Given the description of an element on the screen output the (x, y) to click on. 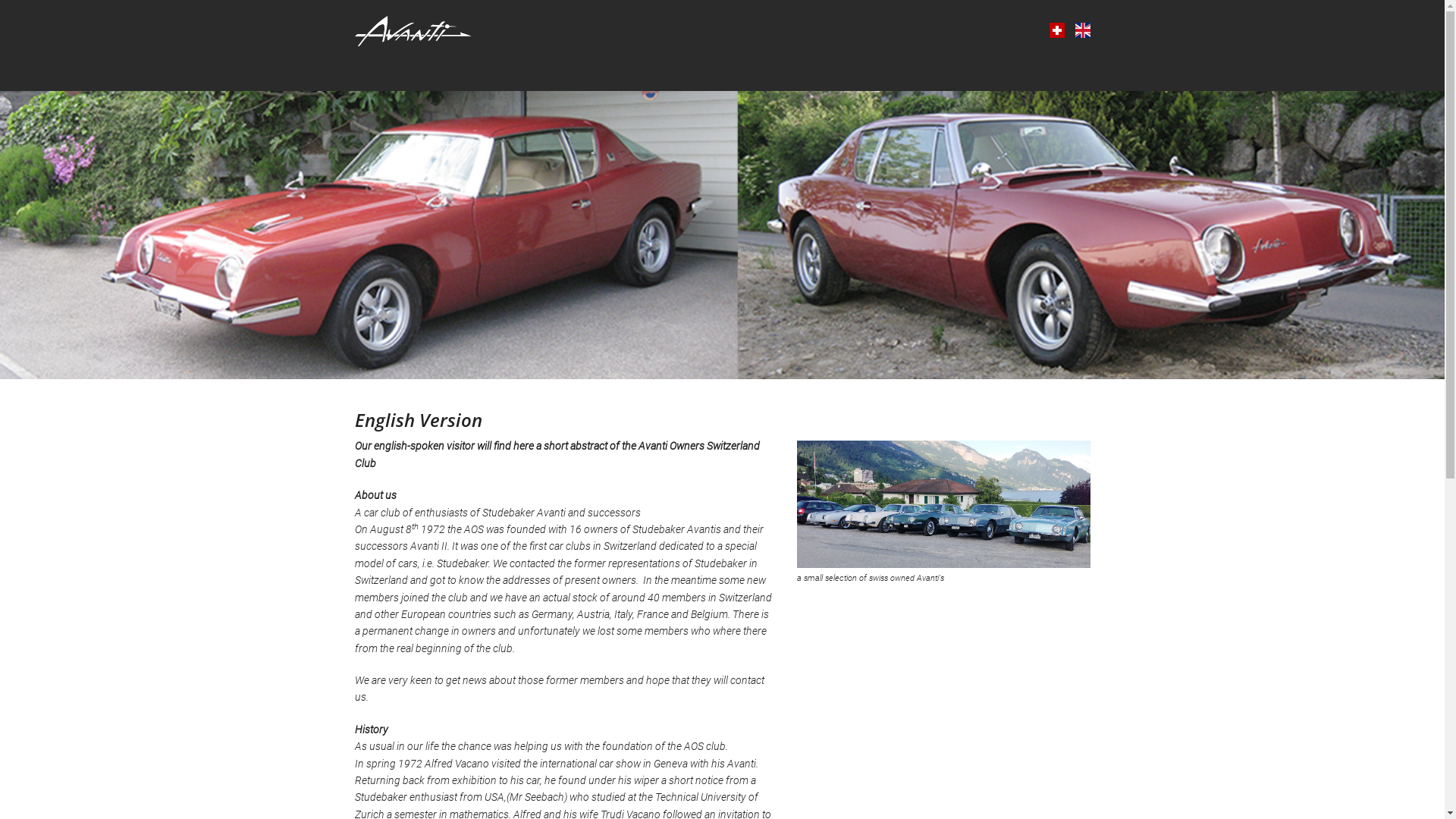
English Version Element type: text (1082, 32)
